Given the description of an element on the screen output the (x, y) to click on. 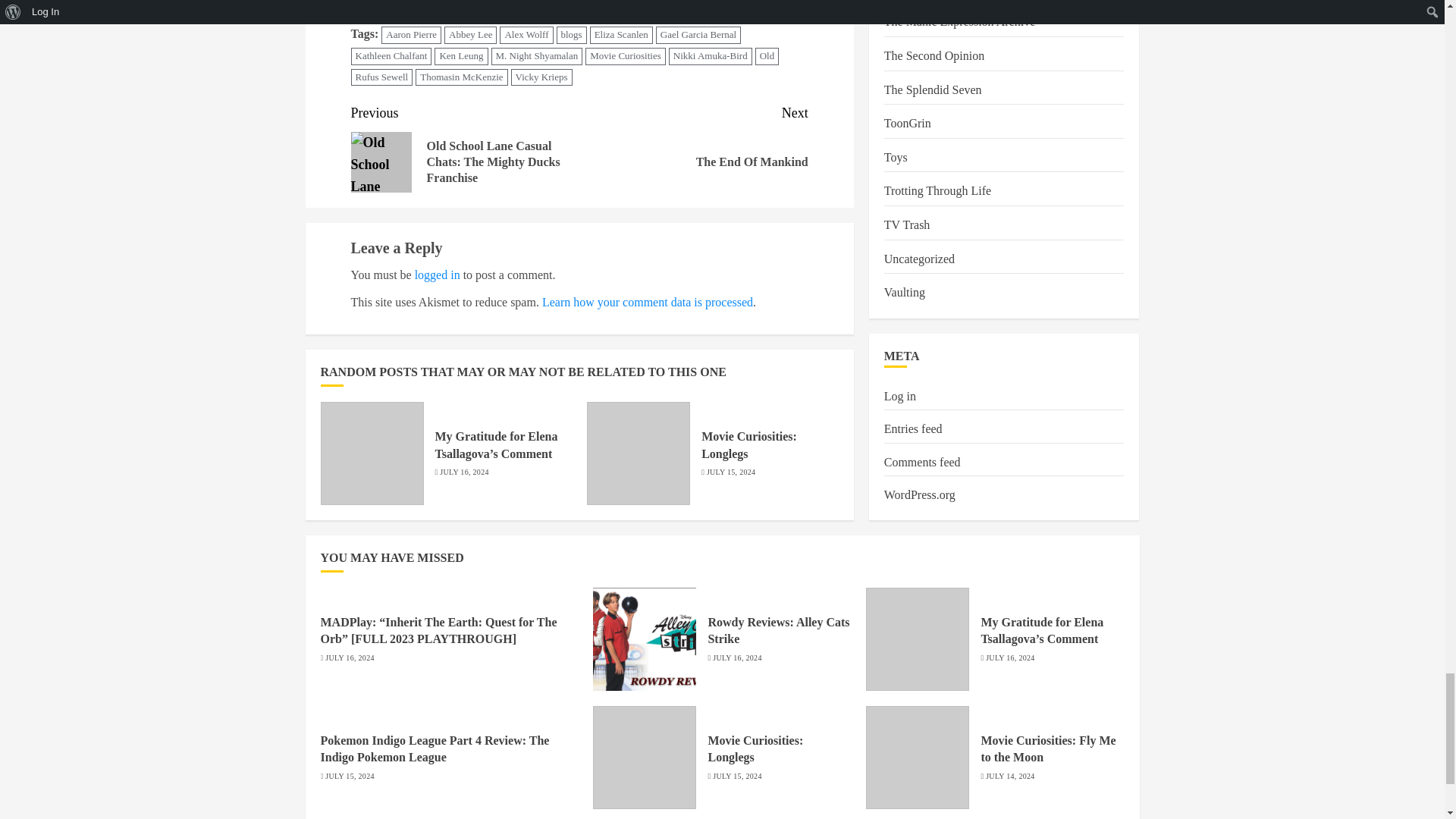
Old School Lane Casual Chats: The Mighty Ducks Franchise (380, 161)
